Given the description of an element on the screen output the (x, y) to click on. 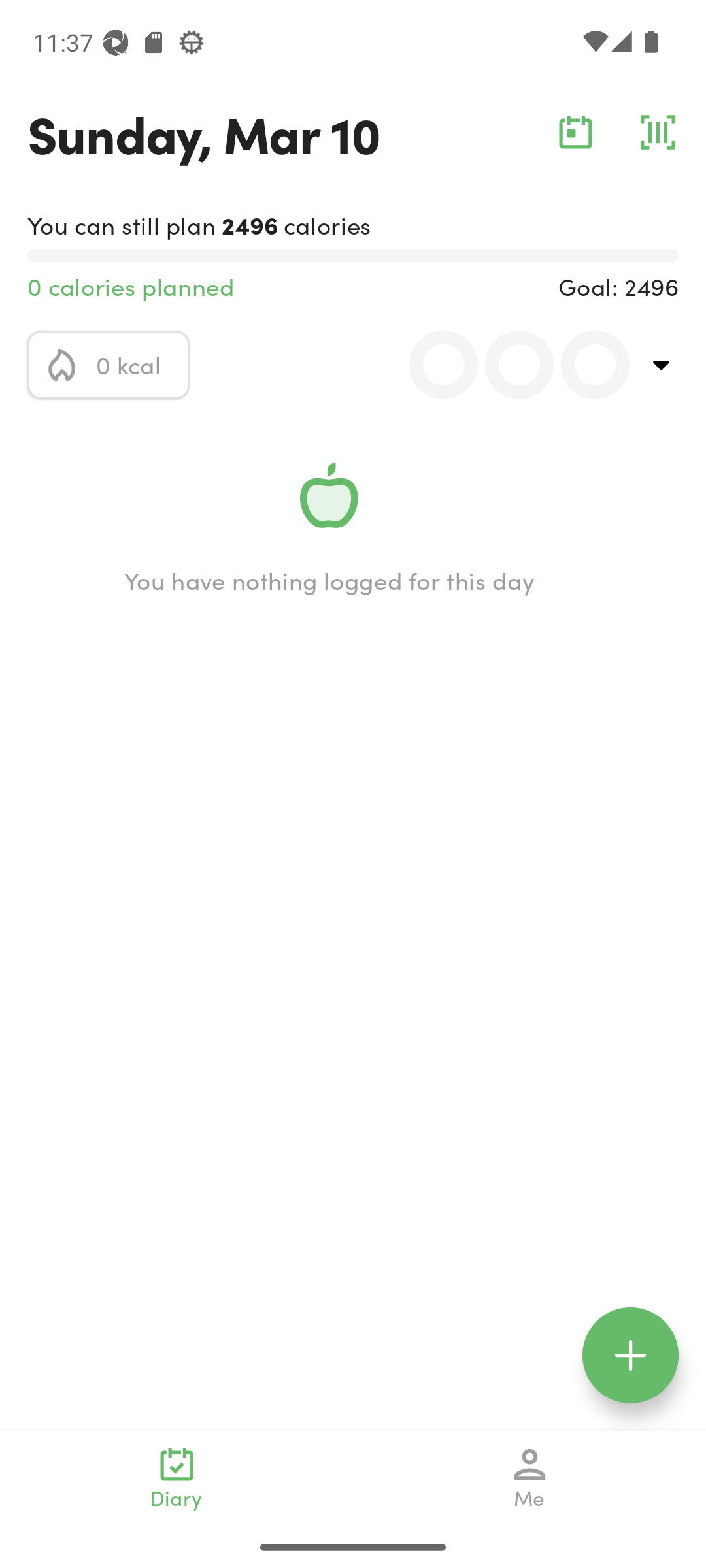
calendar_action (575, 132)
barcode_action (658, 132)
calorie_icon 0 kcal (108, 365)
0.0 0.0 0.0 (508, 365)
top_right_action (661, 365)
floating_action_icon (630, 1355)
Me navigation_icon (529, 1478)
